Given the description of an element on the screen output the (x, y) to click on. 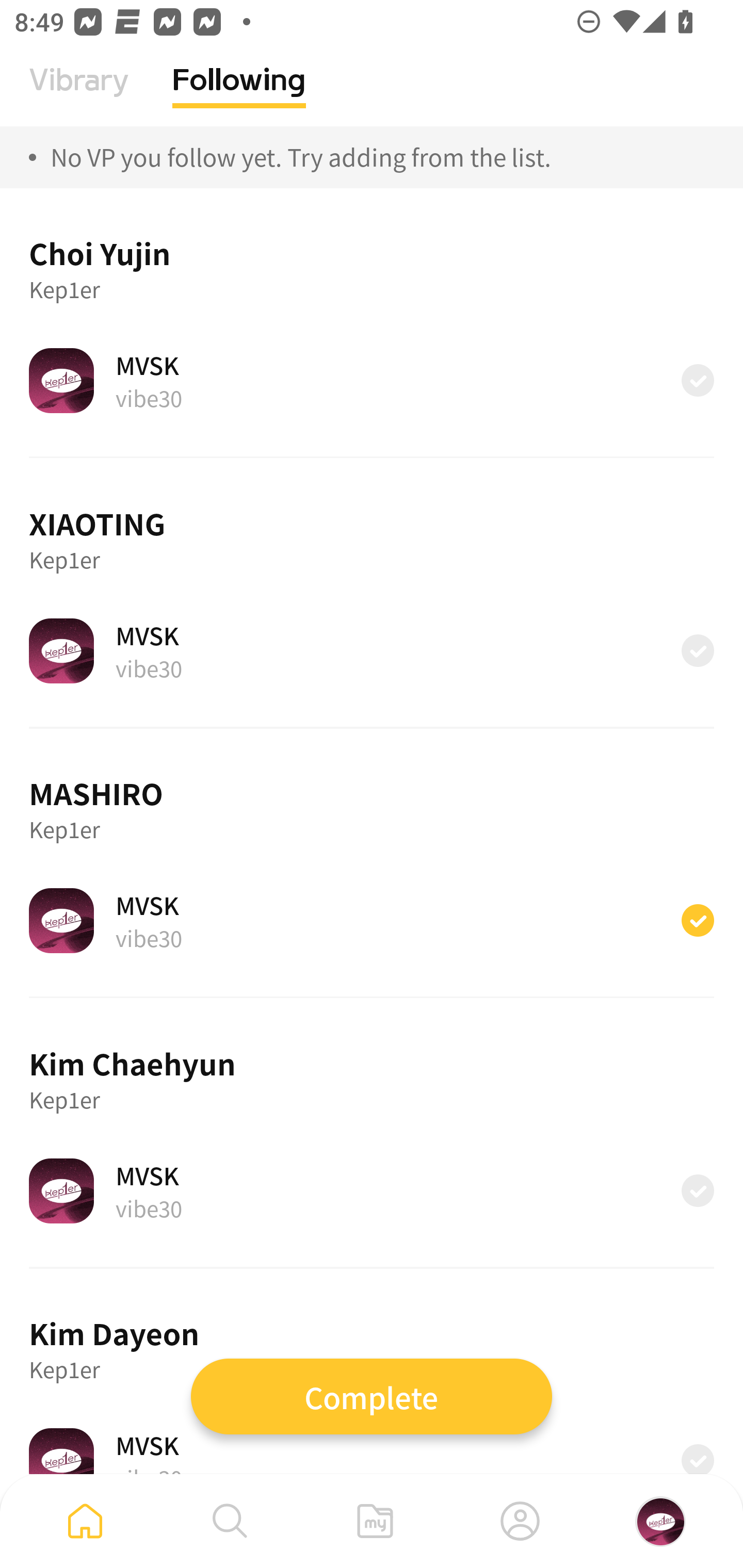
Vibrary (78, 95)
Following (239, 95)
MVSK vibe30 (371, 380)
MVSK vibe30 (371, 650)
MVSK vibe30 (371, 920)
MVSK vibe30 (371, 1190)
Complete (371, 1395)
MVSK vibe30 (371, 1450)
